Given the description of an element on the screen output the (x, y) to click on. 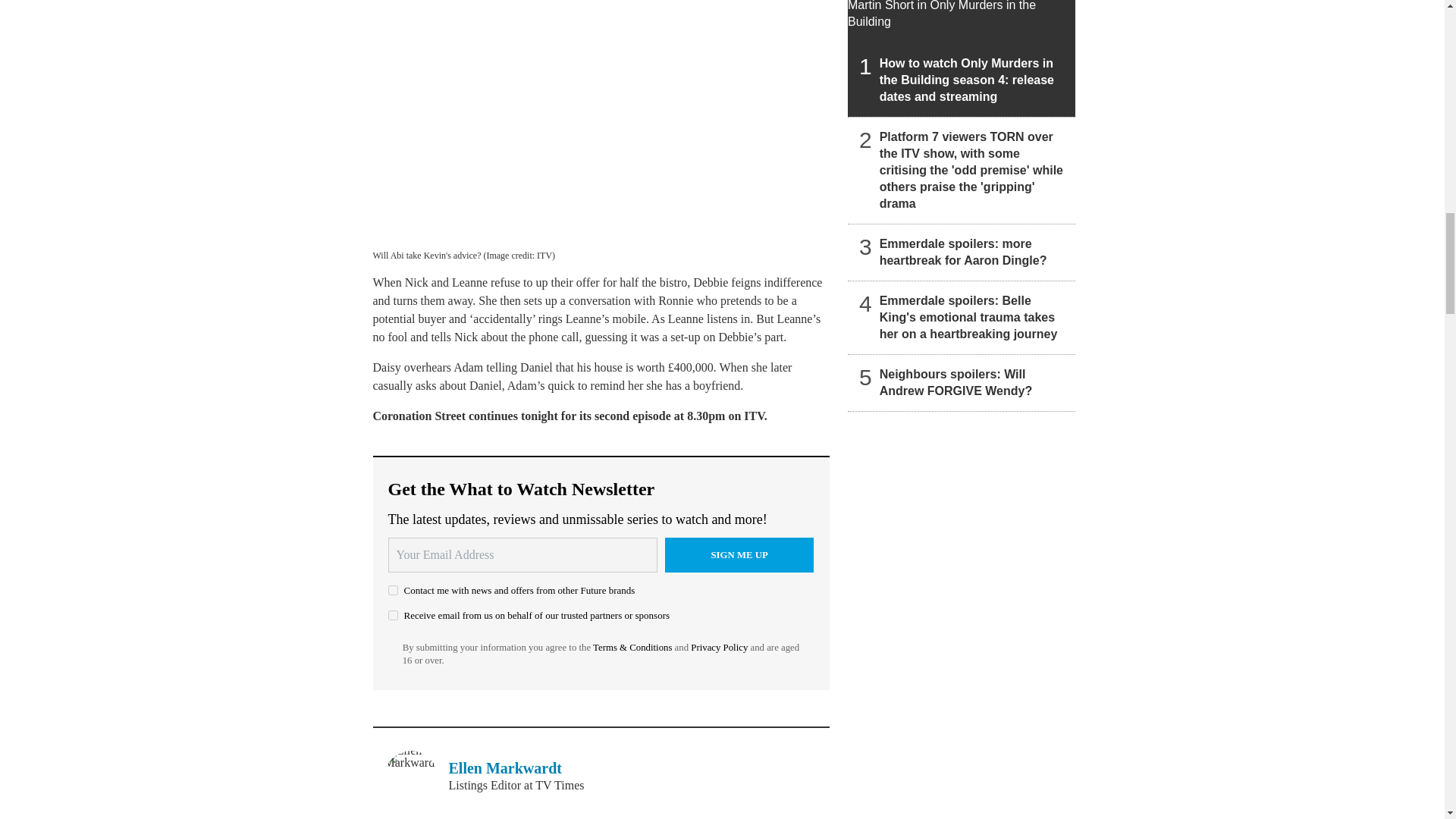
on (392, 590)
on (392, 614)
Sign me up (739, 554)
